Given the description of an element on the screen output the (x, y) to click on. 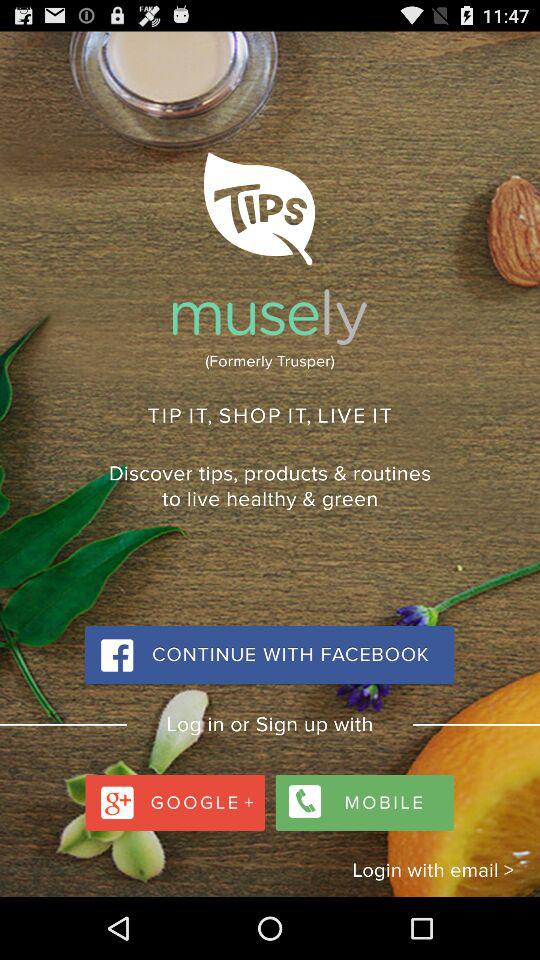
click to continue (269, 655)
